Given the description of an element on the screen output the (x, y) to click on. 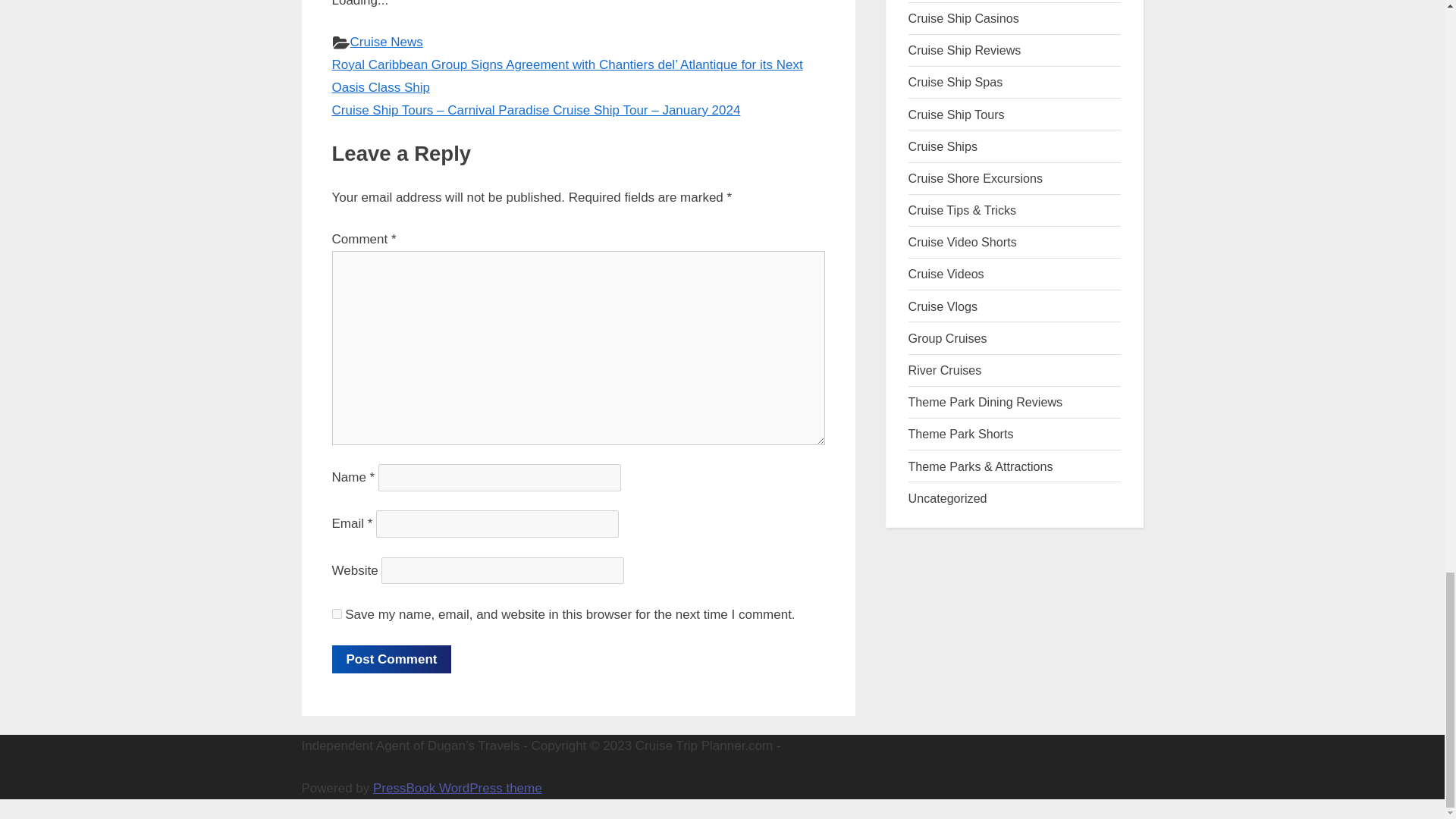
yes (336, 614)
Post Comment (391, 659)
